Given the description of an element on the screen output the (x, y) to click on. 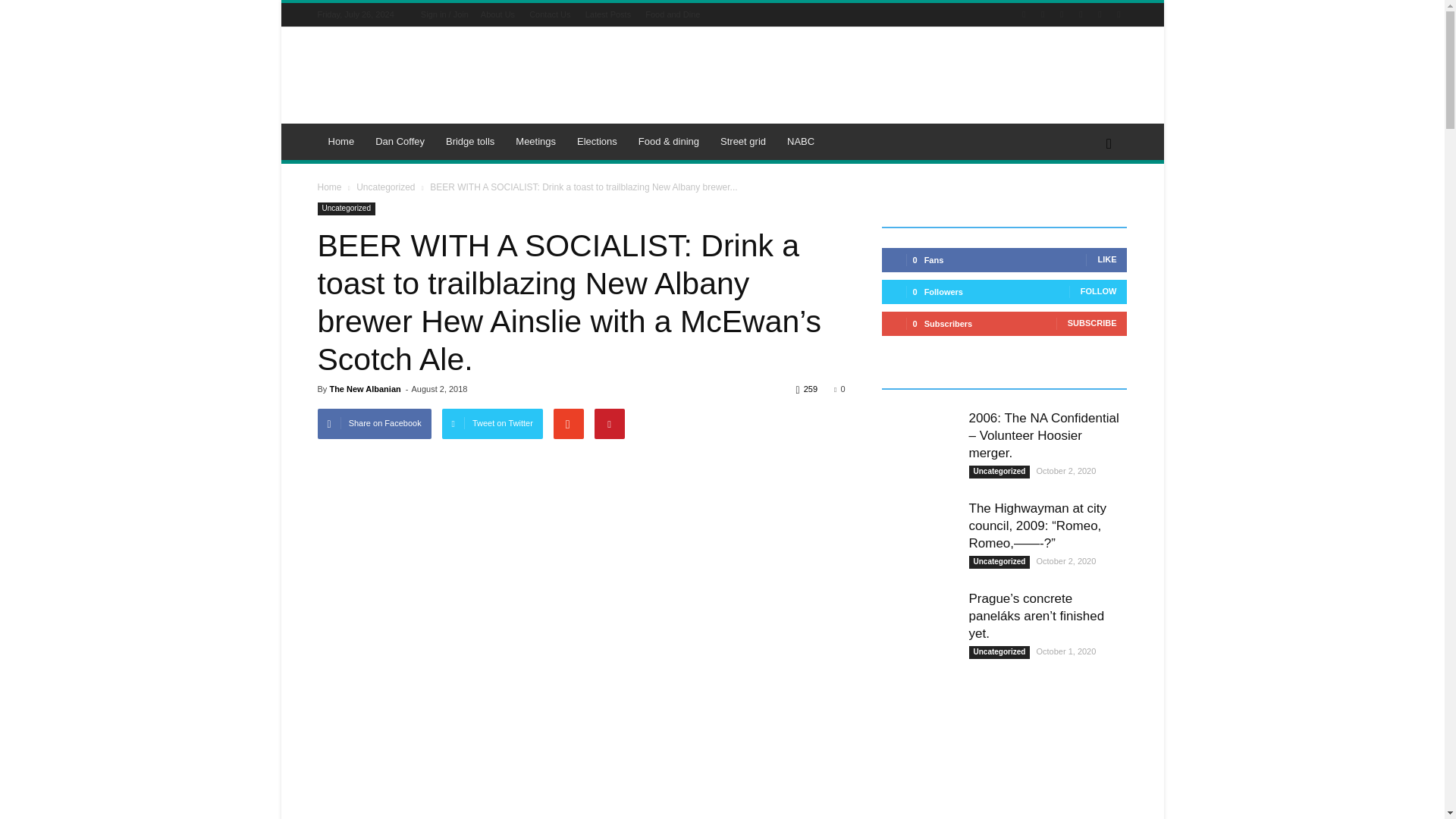
Contact Us (549, 13)
Facebook (1042, 13)
Dan Coffey (400, 141)
Vimeo (1099, 13)
View all posts in Uncategorized (385, 186)
Behance (1023, 13)
Instagram (1061, 13)
Home (341, 141)
VKontakte (1117, 13)
About Us (497, 13)
Latest Posts (608, 13)
Twitter (1080, 13)
Food and Dine (672, 13)
